Given the description of an element on the screen output the (x, y) to click on. 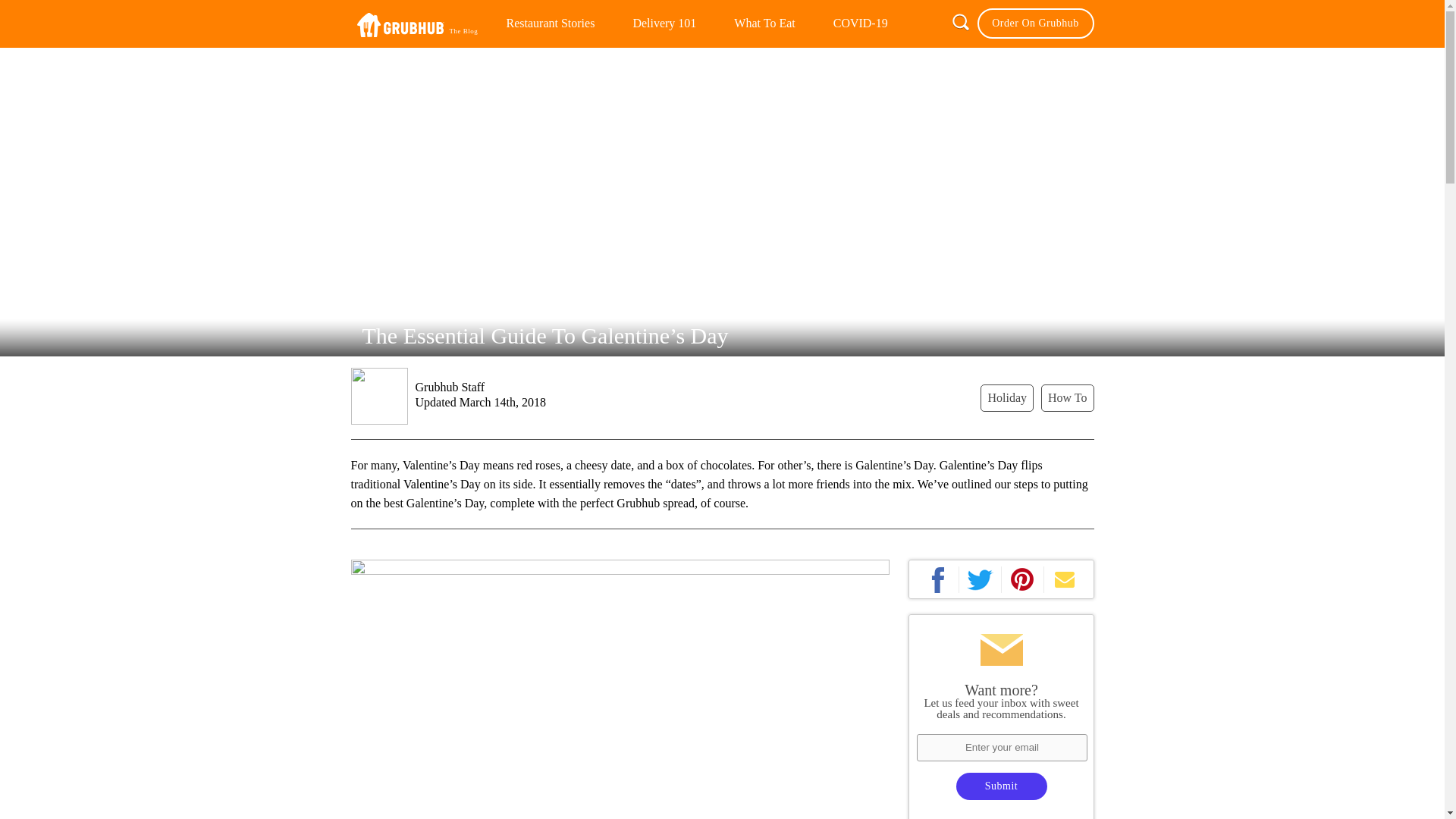
Holiday (1006, 397)
Submit (1000, 786)
COVID-19 (860, 23)
Order On Grubhub (1034, 23)
Restaurant Stories (549, 23)
What To Eat (763, 23)
Delivery 101 (663, 23)
How To (1067, 397)
